Given the description of an element on the screen output the (x, y) to click on. 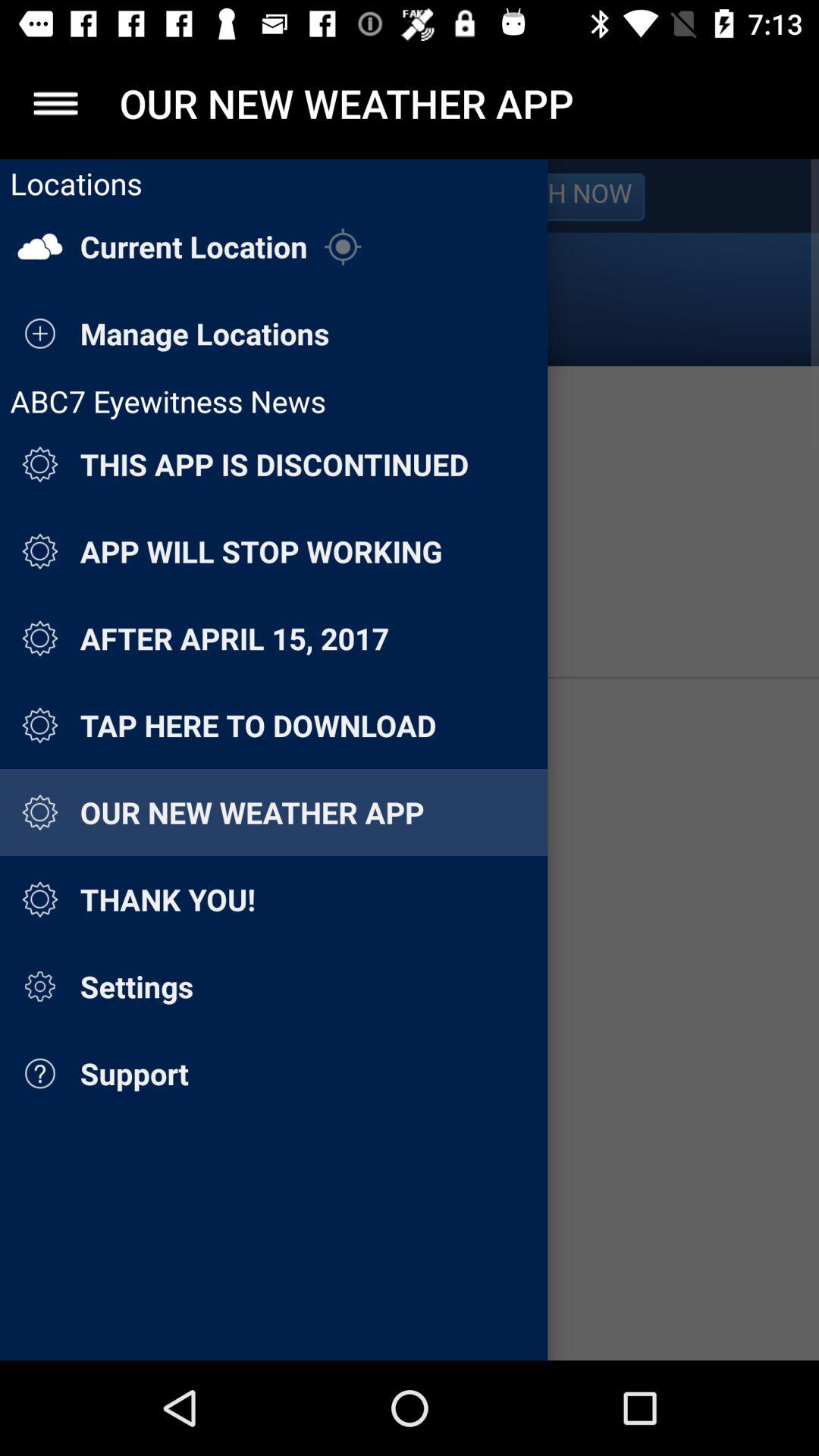
menu sidebar (409, 759)
